Given the description of an element on the screen output the (x, y) to click on. 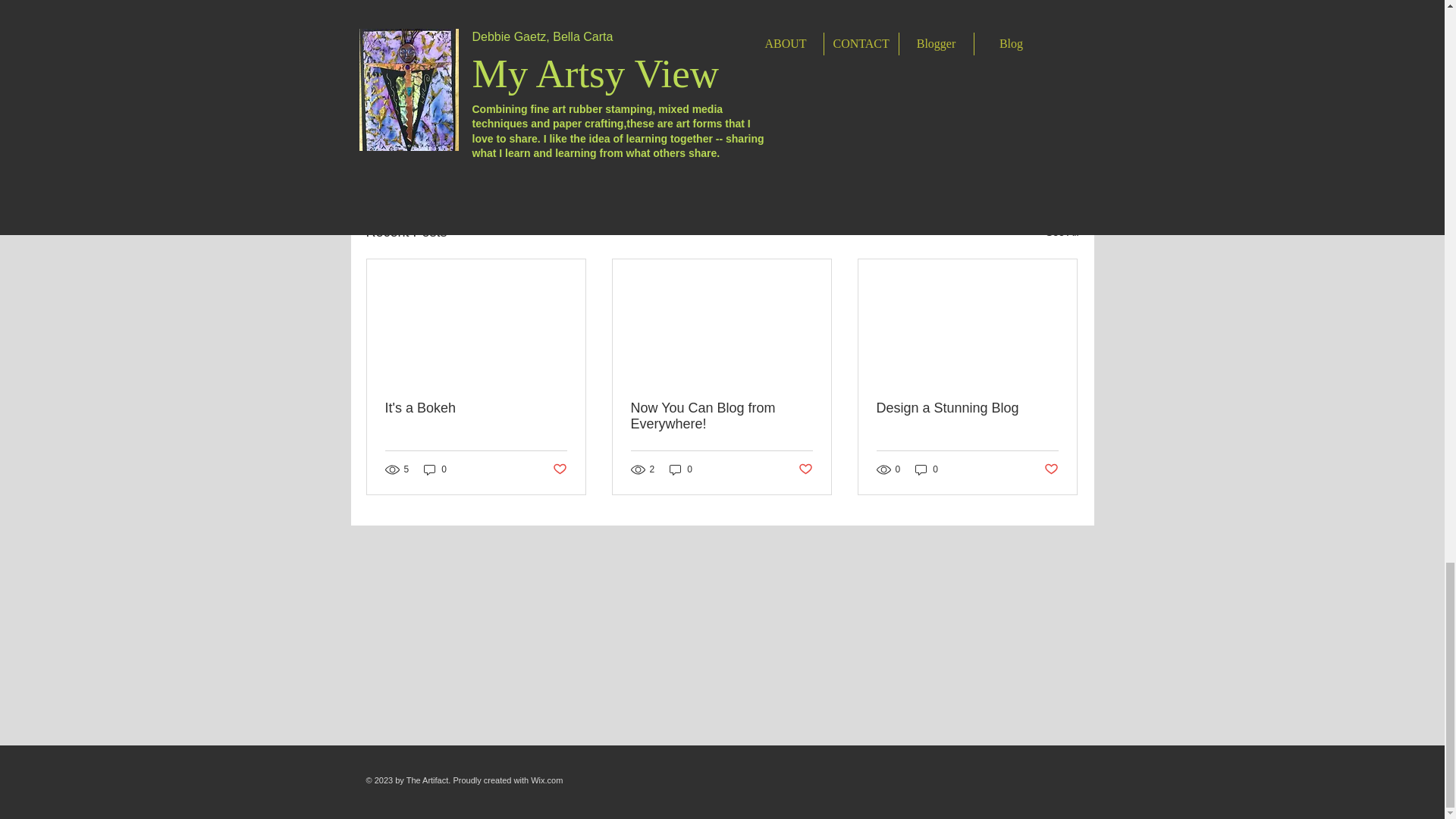
See All (1061, 232)
0 (926, 468)
Post not marked as liked (558, 469)
It's a Bokeh (476, 408)
Wix.com (546, 779)
0 (681, 468)
Post not marked as liked (995, 149)
Post not marked as liked (1050, 469)
Design a Stunning Blog (967, 408)
Now You Can Blog from Everywhere! (721, 416)
0 (435, 468)
Post not marked as liked (804, 469)
